Given the description of an element on the screen output the (x, y) to click on. 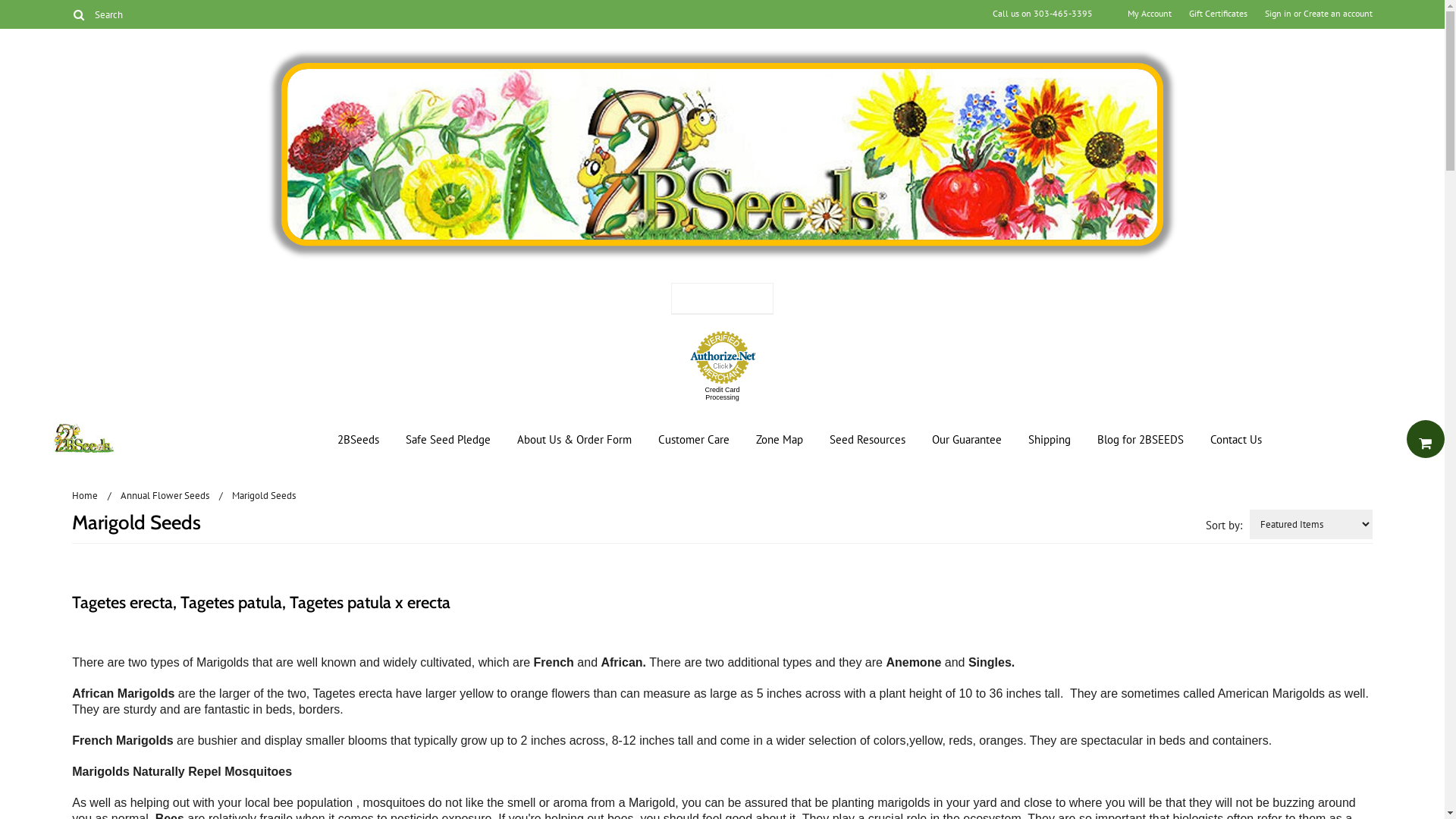
My Account Element type: text (1149, 13)
Contact Us Element type: text (1235, 439)
Search Element type: hover (78, 14)
Home Element type: text (91, 495)
Our Guarantee Element type: text (966, 439)
Zone Map Element type: text (779, 439)
Seed Resources Element type: text (867, 439)
Shipping Element type: text (1049, 439)
Customer Care Element type: text (693, 439)
Gift Certificates Element type: text (1218, 13)
Create an account Element type: text (1337, 13)
About Us & Order Form Element type: text (574, 439)
Safe Seed Pledge Element type: text (447, 439)
View Cart Element type: hover (1425, 439)
  Element type: text (1425, 439)
Blog for 2BSEEDS Element type: text (1140, 439)
Annual Flower Seeds Element type: text (171, 495)
View Cart Element type: hover (1424, 441)
Credit Card Processing Element type: text (721, 393)
2BSeeds Element type: text (358, 439)
Sign in Element type: text (1277, 13)
